Given the description of an element on the screen output the (x, y) to click on. 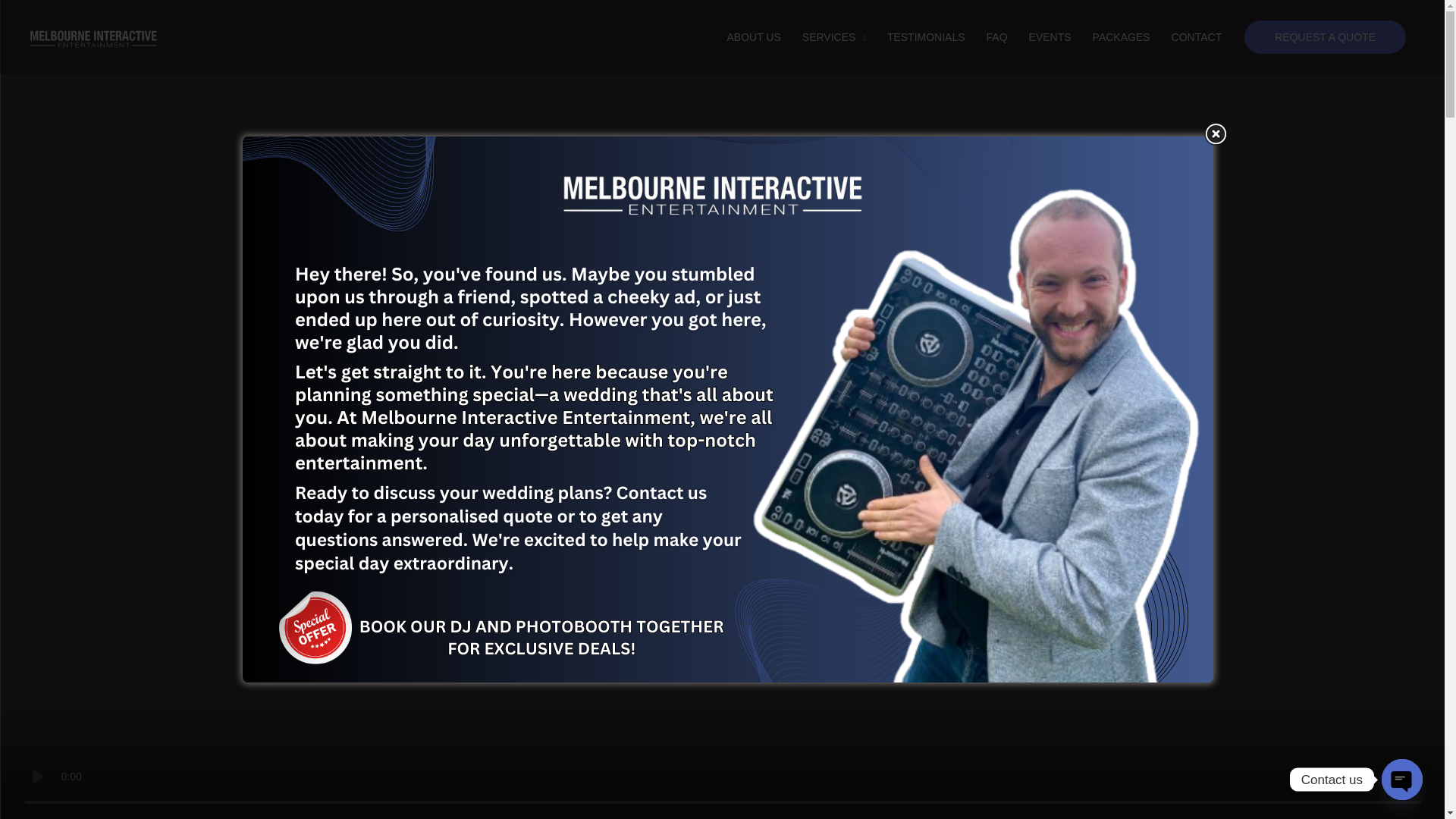
REQUEST A QUOTE (1325, 37)
CONTACT (1196, 36)
ABOUT US (753, 36)
FAQ (996, 36)
TESTIMONIALS (925, 36)
SERVICES (834, 36)
EVENTS (1049, 36)
Close (1215, 133)
PACKAGES (1120, 36)
